Given the description of an element on the screen output the (x, y) to click on. 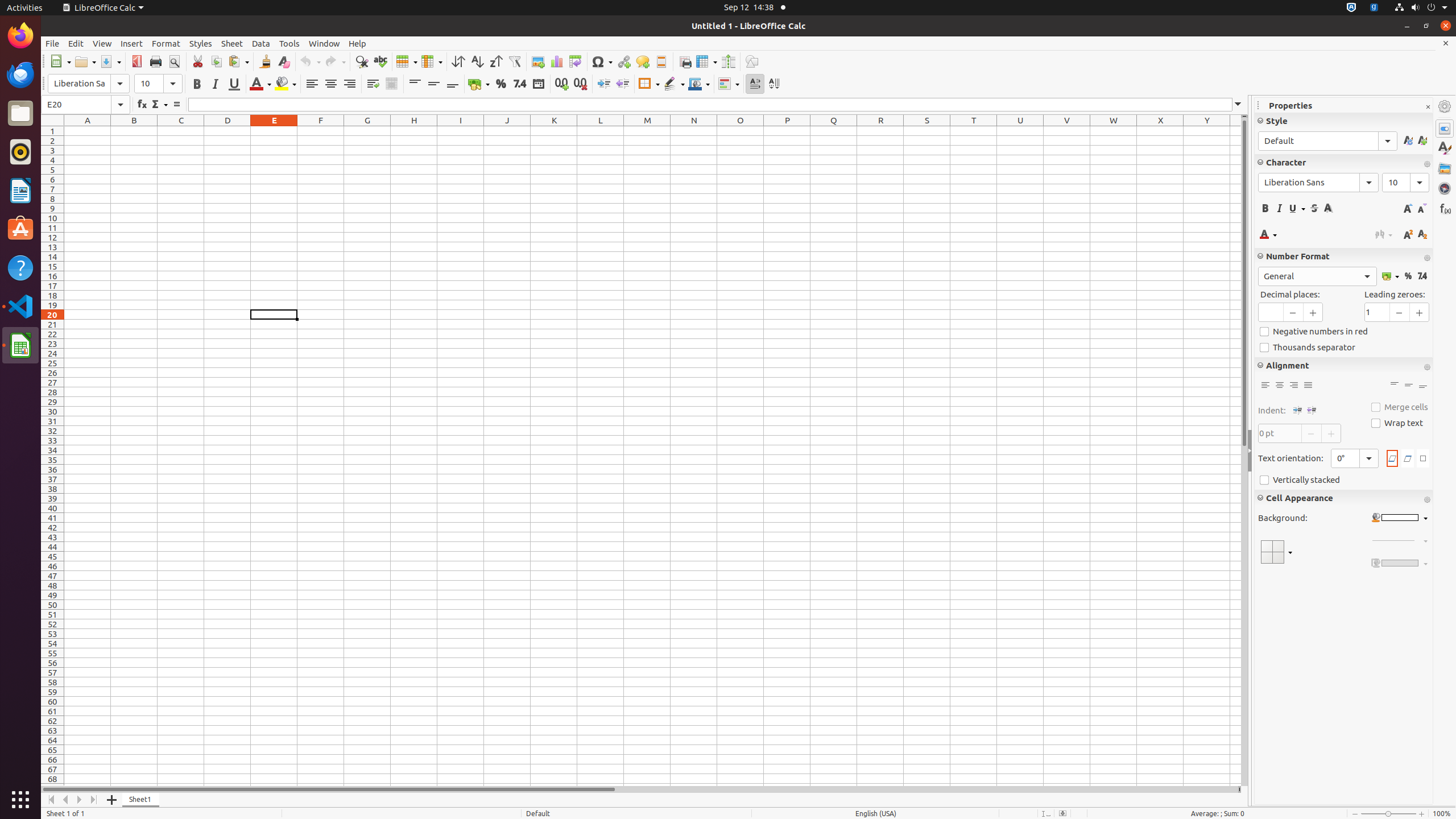
Sort Descending Element type: push-button (495, 61)
Formula Element type: push-button (176, 104)
Text direction from top to bottom Element type: toggle-button (773, 83)
C1 Element type: table-cell (180, 130)
Edit Element type: menu (75, 43)
